Given the description of an element on the screen output the (x, y) to click on. 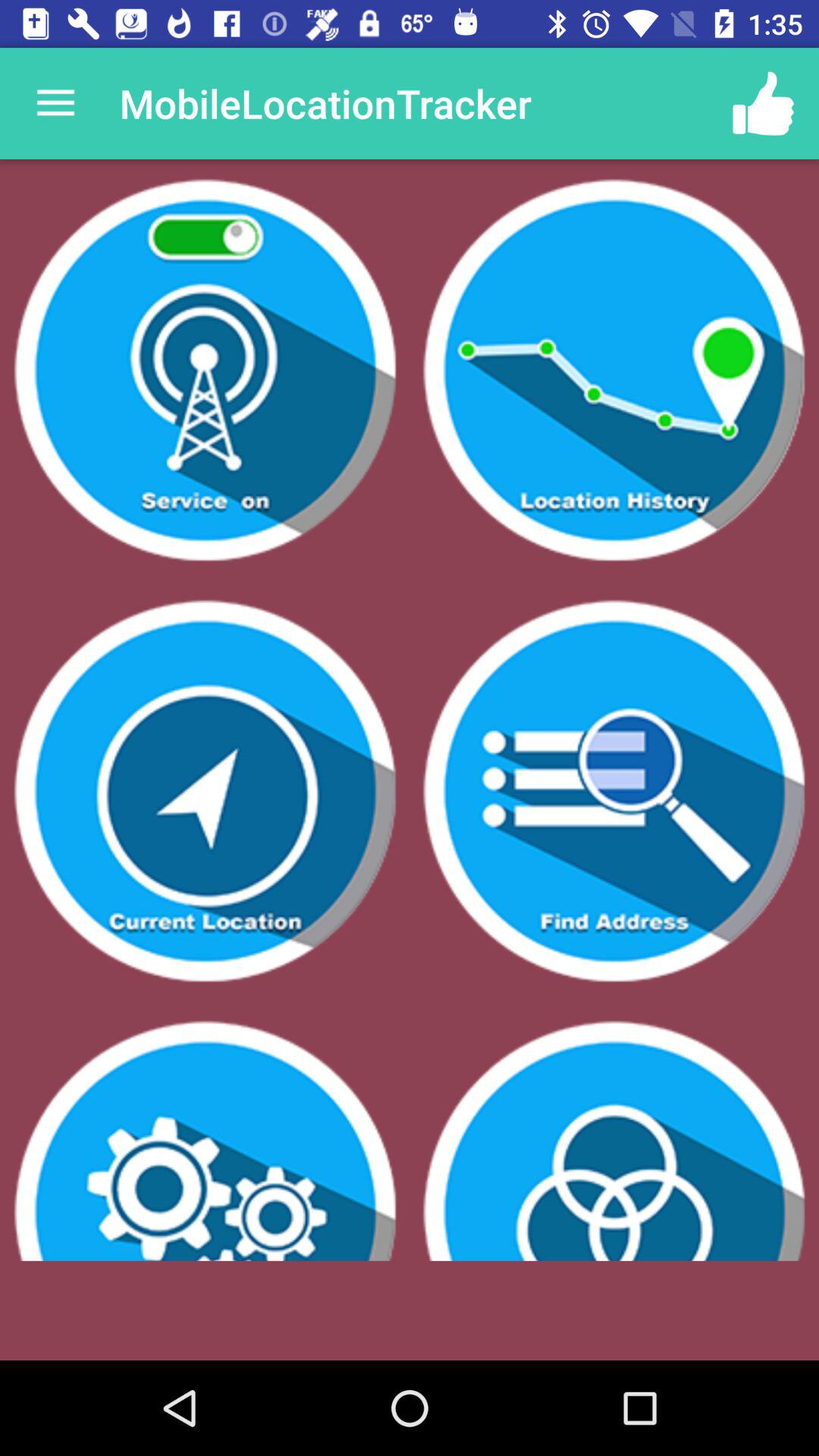
click the app to the left of the mobilelocationtracker item (55, 103)
